Given the description of an element on the screen output the (x, y) to click on. 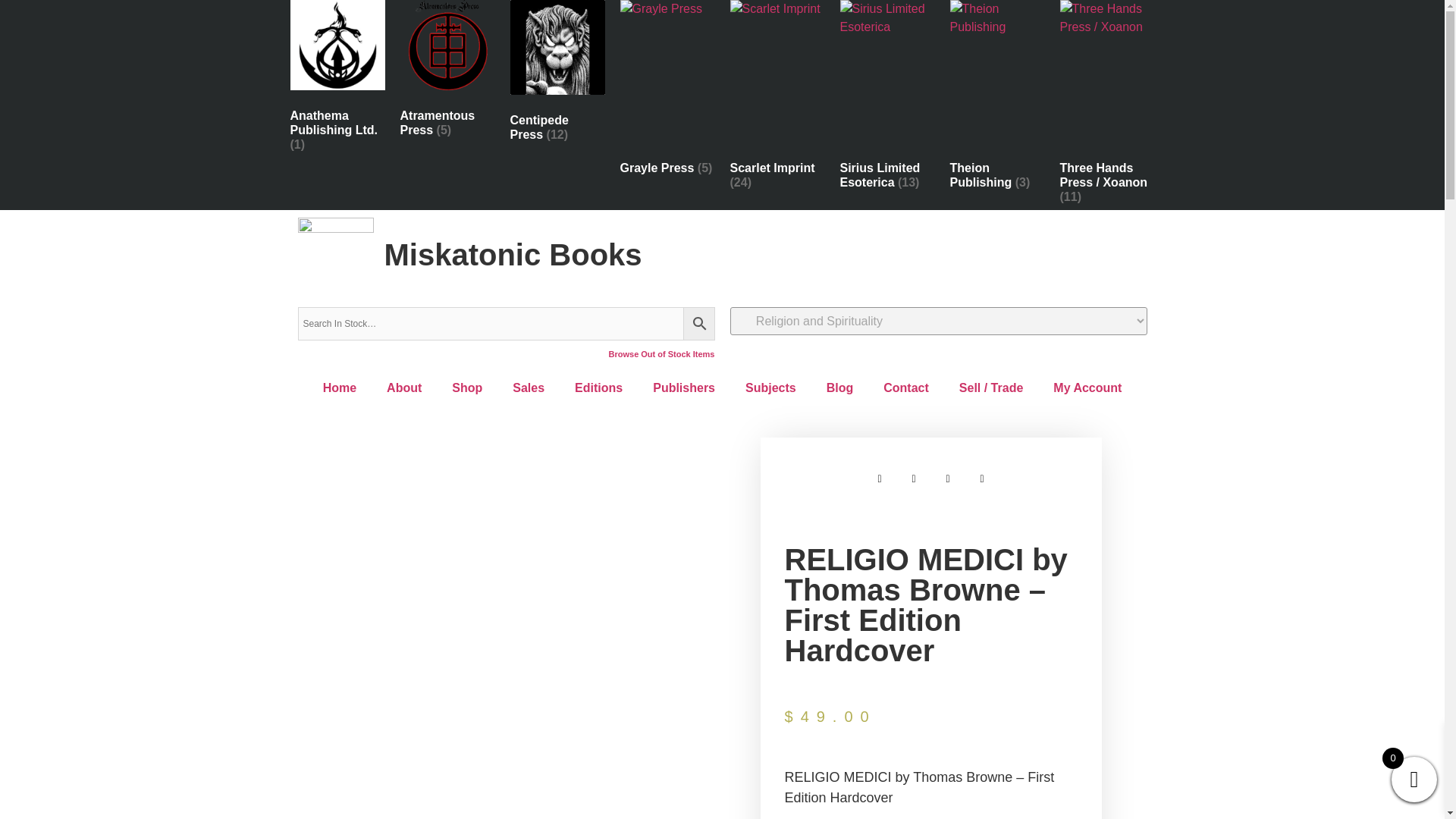
Shop (466, 388)
Editions (598, 388)
My Account (1087, 388)
About (403, 388)
Browse Out of Stock Items (661, 353)
Subjects (770, 388)
Home (339, 388)
Blog (839, 388)
Publishers (683, 388)
Miskatonic Books (513, 254)
